Given the description of an element on the screen output the (x, y) to click on. 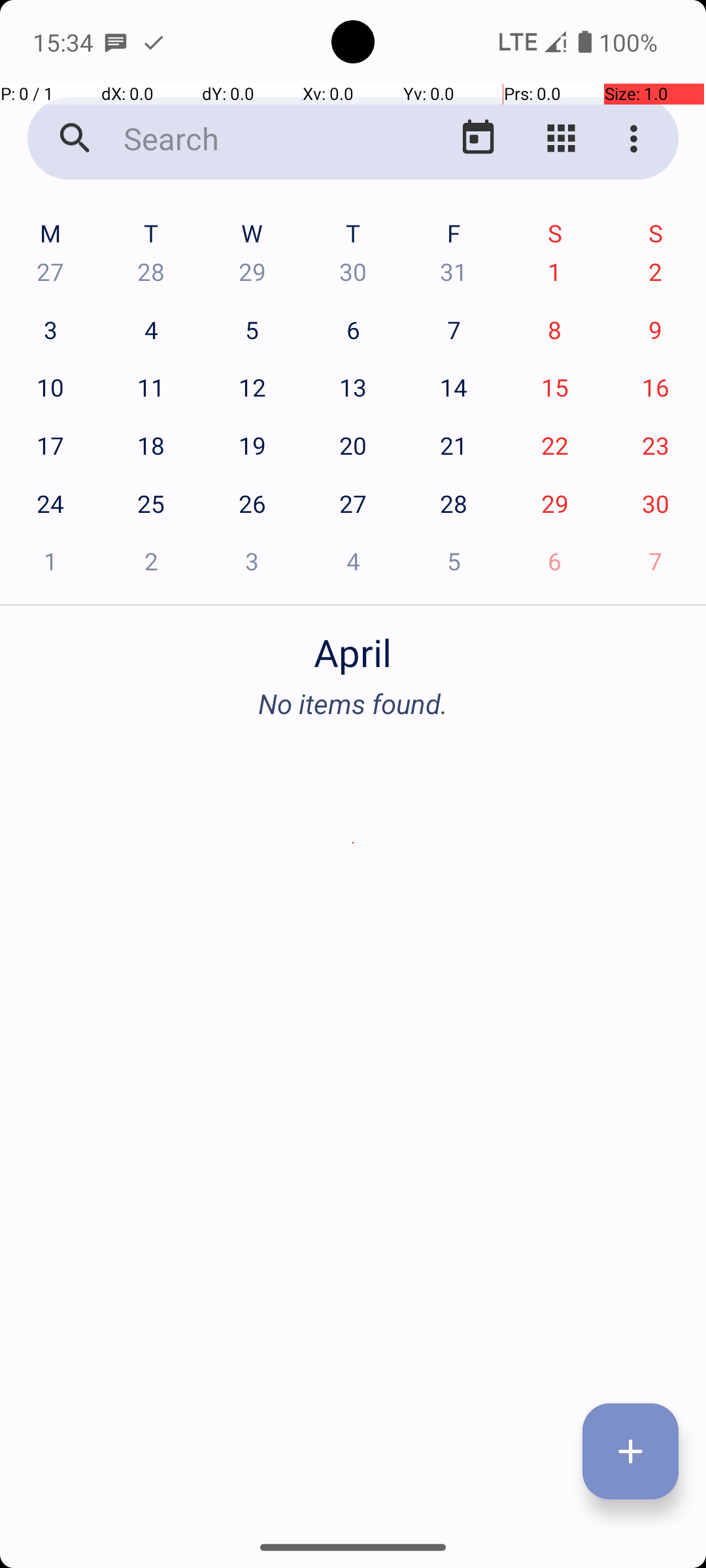
April Element type: android.widget.TextView (352, 644)
